Given the description of an element on the screen output the (x, y) to click on. 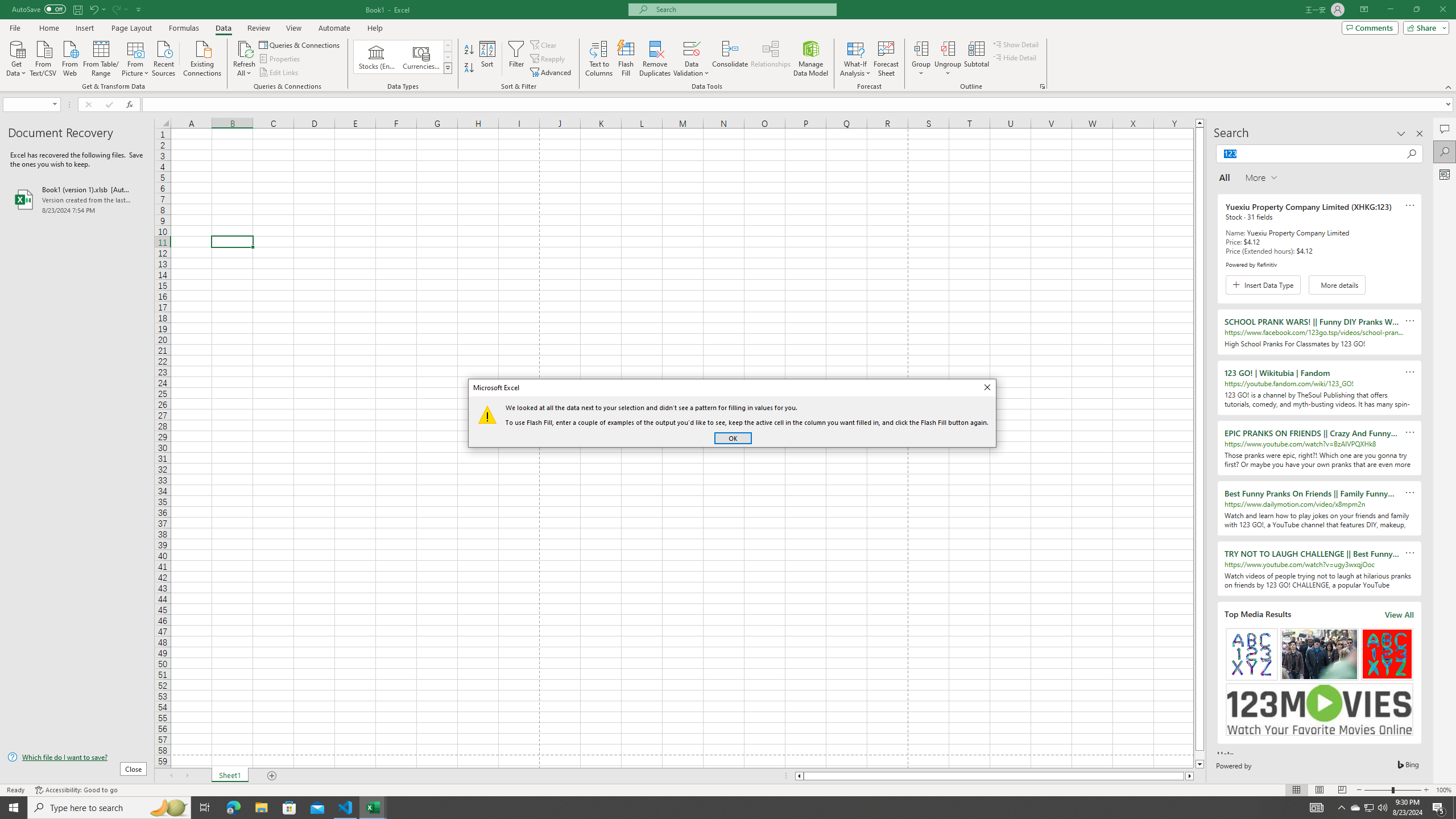
AutomationID: 4105 (1316, 807)
Action Center, 5 new notifications (1439, 807)
From Table/Range (100, 57)
From Web (69, 57)
Q2790: 100% (1355, 807)
Microsoft Store (1382, 807)
Running applications (289, 807)
Visual Studio Code - 1 running window (717, 807)
From Picture (345, 807)
